Given the description of an element on the screen output the (x, y) to click on. 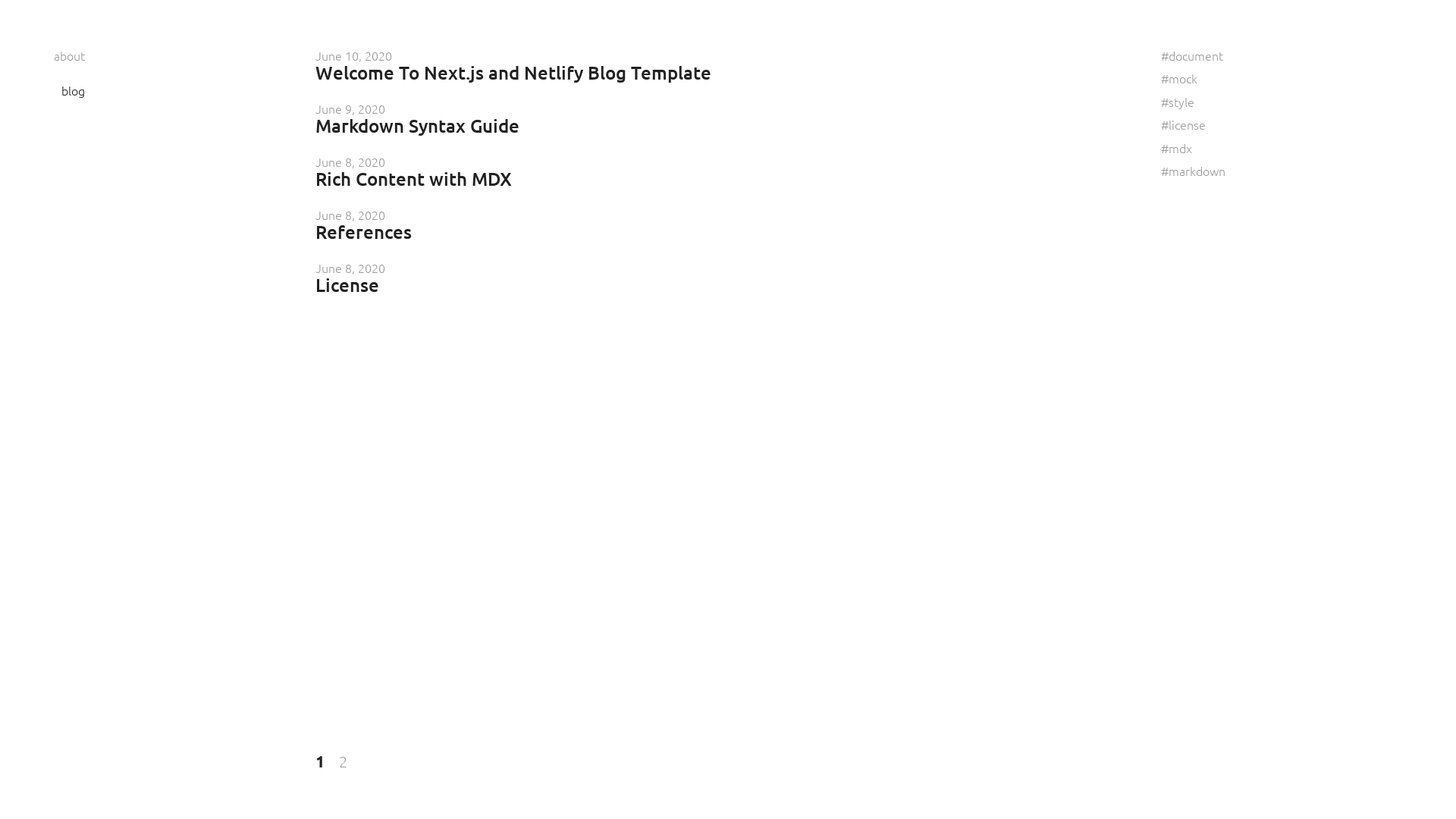
#document Element type: text (1192, 55)
1 Element type: text (319, 761)
blog Element type: text (72, 89)
June 8, 2020
References Element type: text (363, 224)
June 8, 2020
Rich Content with MDX Element type: text (413, 171)
June 10, 2020
Welcome To Next.js and Netlify Blog Template Element type: text (513, 65)
#style Element type: text (1177, 101)
June 8, 2020
License Element type: text (350, 277)
June 9, 2020
Markdown Syntax Guide Element type: text (417, 118)
#markdown Element type: text (1193, 170)
#mock Element type: text (1179, 77)
#mdx Element type: text (1176, 147)
#license Element type: text (1183, 124)
about Element type: text (68, 55)
2 Element type: text (342, 761)
